Given the description of an element on the screen output the (x, y) to click on. 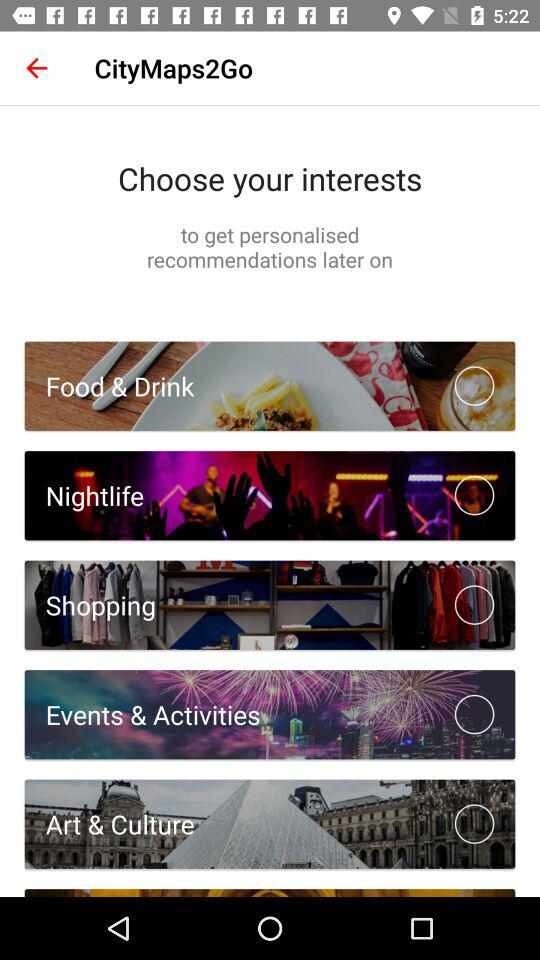
turn off the to get personalised (270, 246)
